Given the description of an element on the screen output the (x, y) to click on. 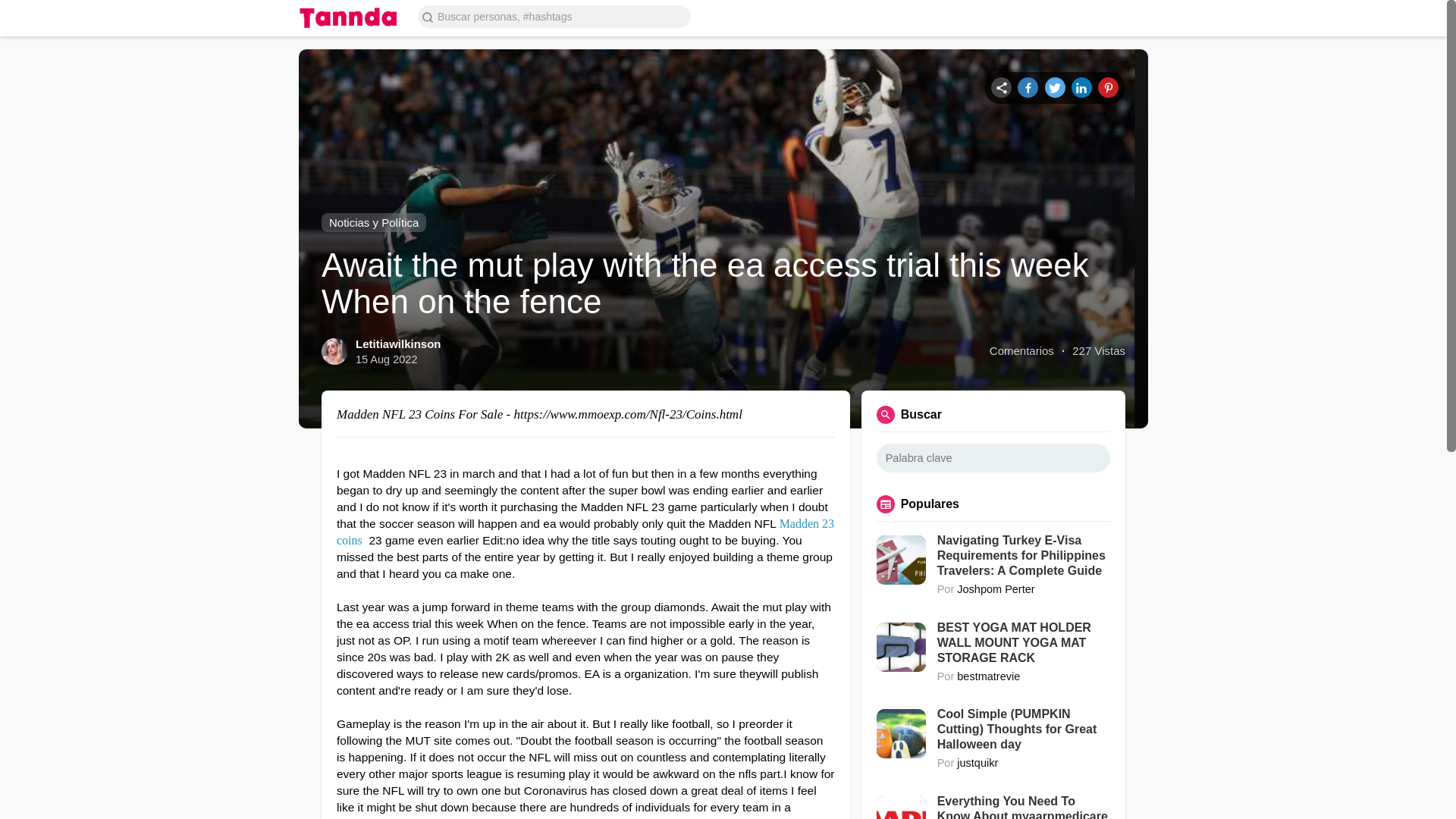
BEST YOGA MAT HOLDER WALL MOUNT YOGA MAT STORAGE RACK (1023, 642)
bestmatrevie (988, 676)
Madden 23 coins (585, 531)
invitado (1127, 17)
Everything You Need To Know About myaarpmedicare (1023, 806)
Linkedin (1081, 86)
justquikr (976, 762)
Comentarios (1022, 350)
Twitter (1055, 86)
